Given the description of an element on the screen output the (x, y) to click on. 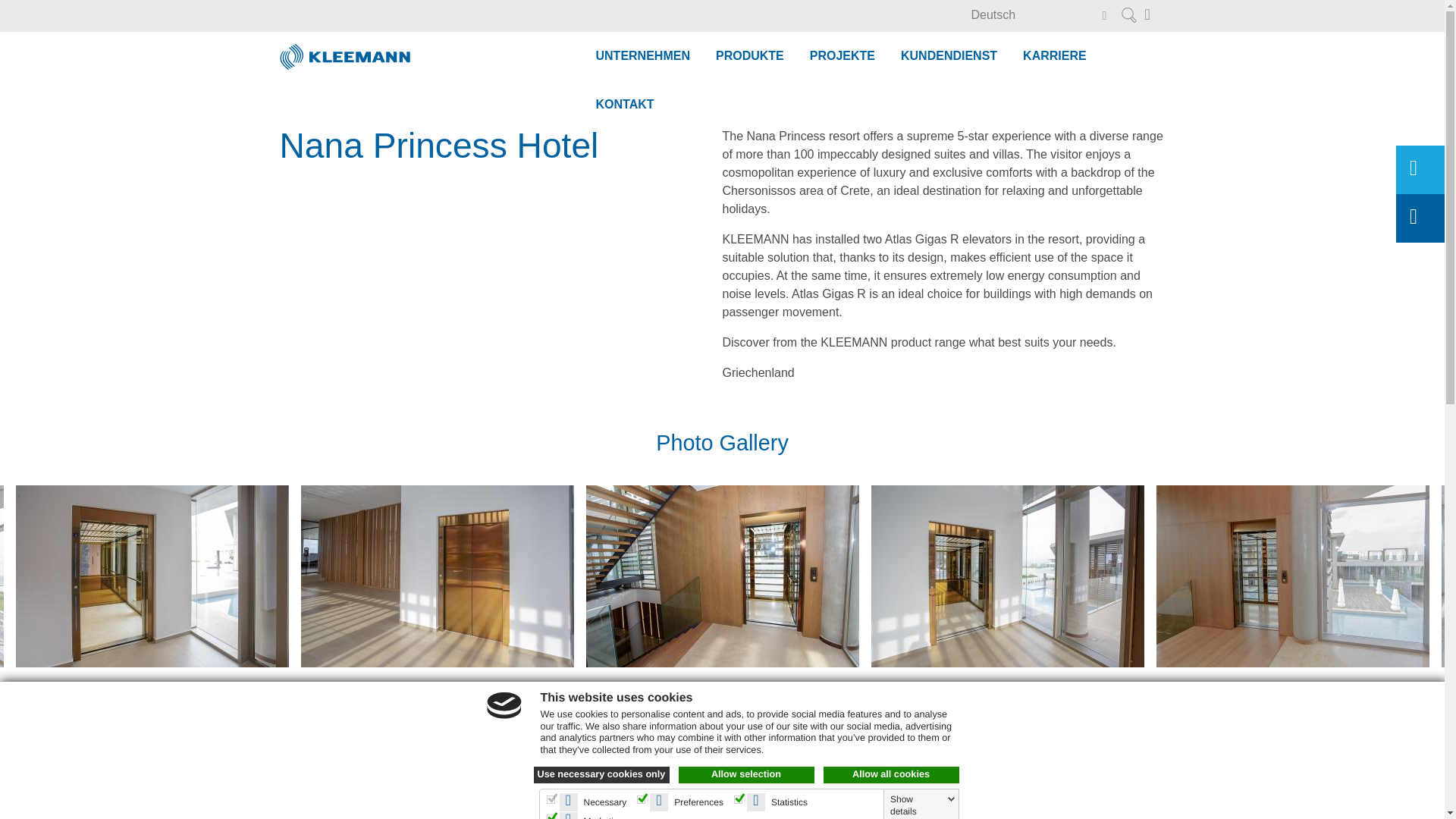
Use necessary cookies only (601, 774)
Allow selection (745, 774)
Show details (922, 805)
Suche (1128, 15)
Allow all cookies (891, 774)
